Given the description of an element on the screen output the (x, y) to click on. 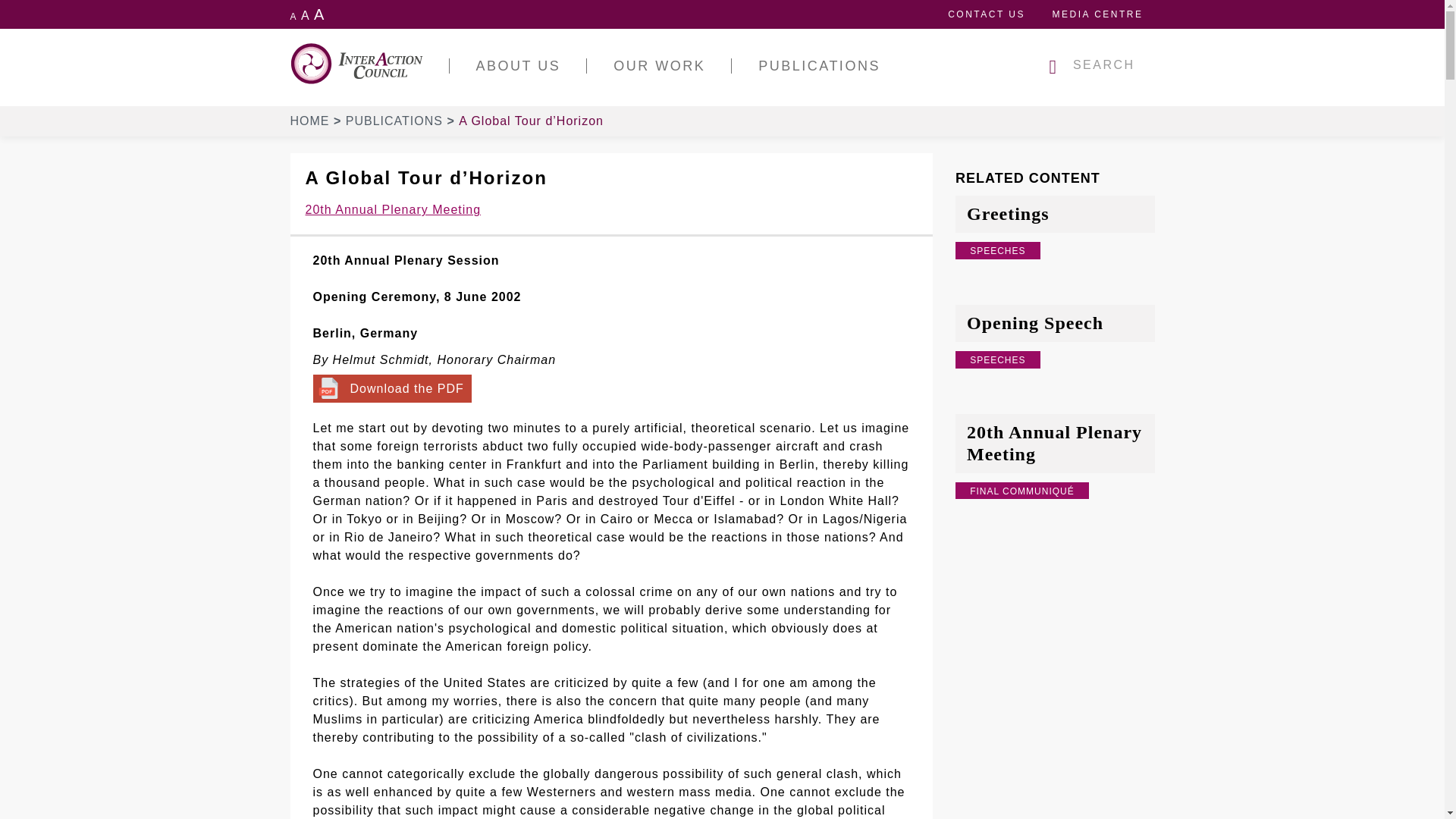
Enter the terms you wish to search for. (1105, 64)
CONTACT US (986, 14)
PUBLICATIONS (400, 120)
OUR WORK (659, 65)
ABOUT US (518, 65)
PUBLICATIONS (818, 65)
Home (368, 63)
MEDIA CENTRE (1097, 14)
HOME (314, 120)
